Given the description of an element on the screen output the (x, y) to click on. 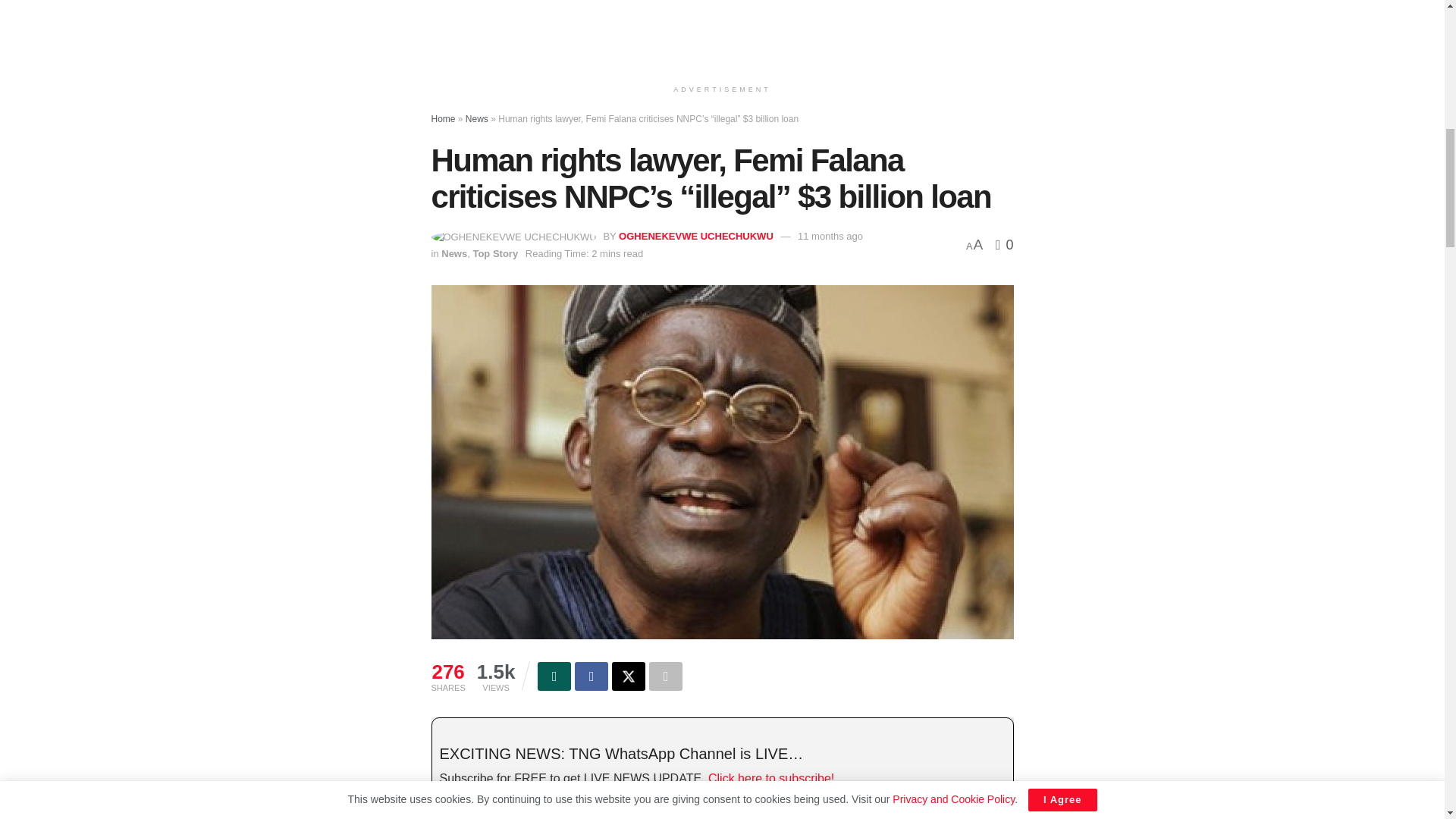
Advertisement (721, 27)
